Given the description of an element on the screen output the (x, y) to click on. 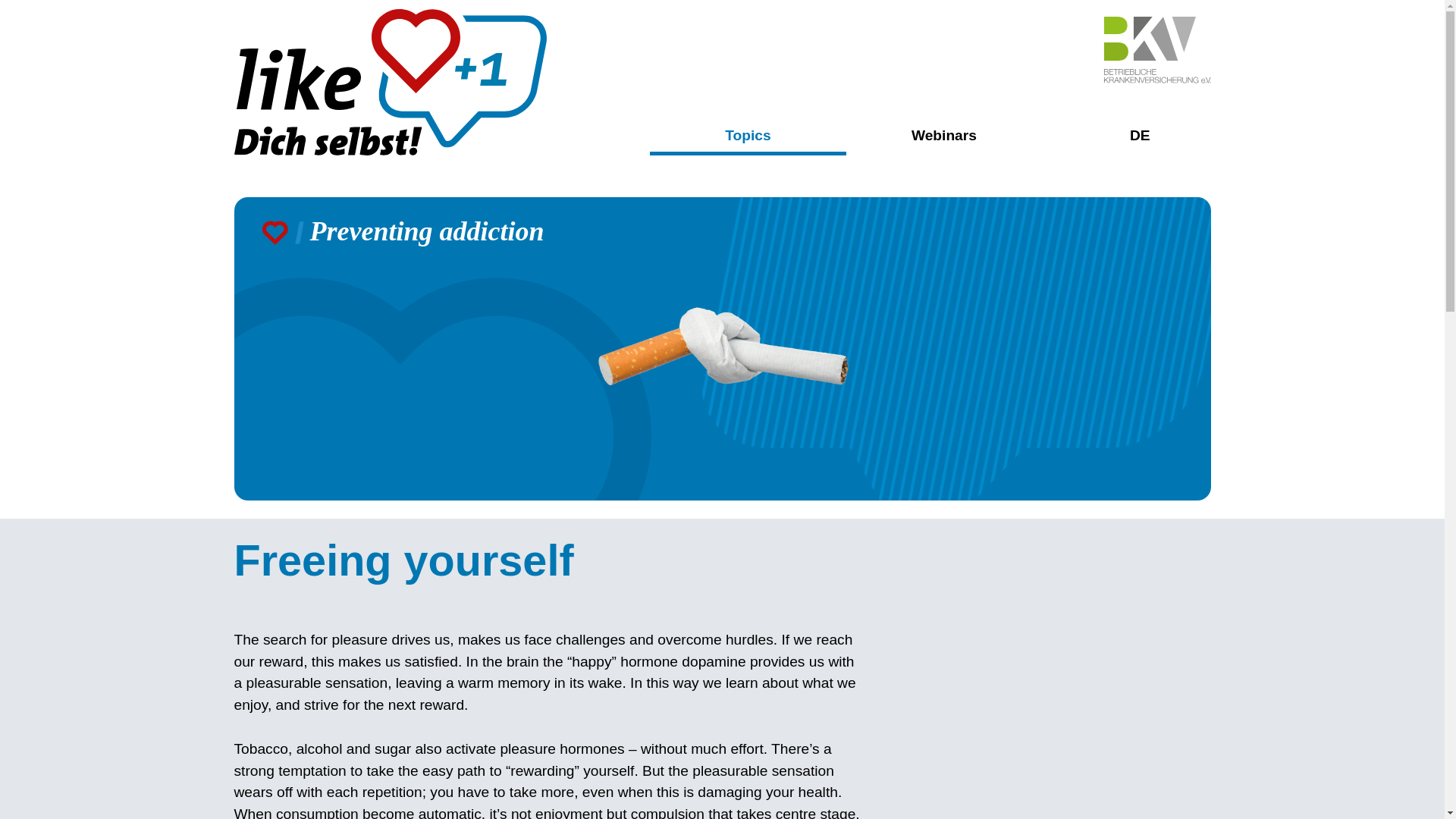
Webinars (943, 135)
Topics (747, 137)
DE (1139, 135)
DE (1139, 135)
